Given the description of an element on the screen output the (x, y) to click on. 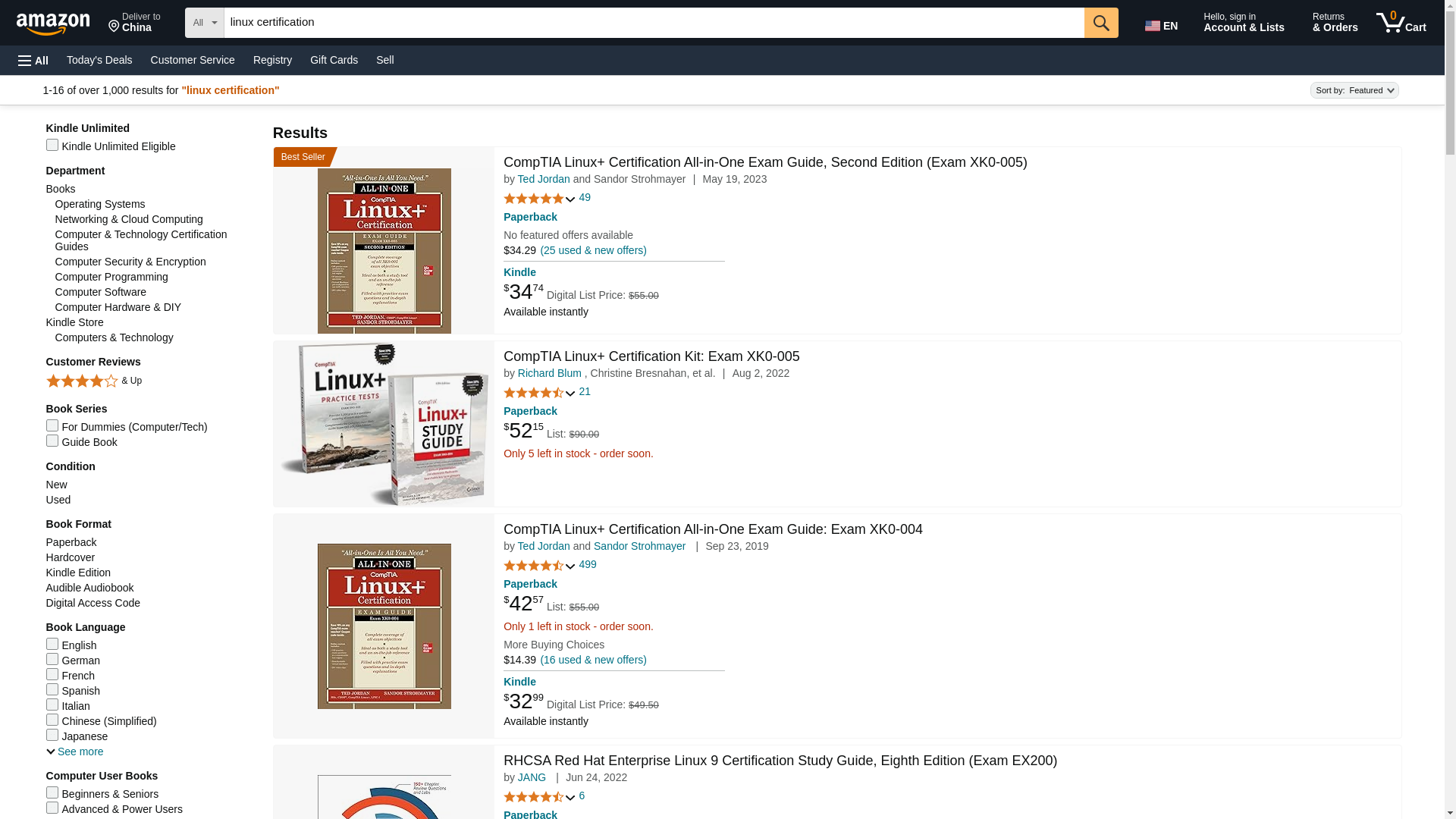
Skip to main content (60, 21)
Customer Service (192, 59)
499 (587, 564)
Go (1101, 22)
Ted Jordan (544, 178)
49 (585, 197)
EN (1163, 22)
linux certification (654, 22)
Ted Jordan (544, 545)
Kindle (519, 272)
